Given the description of an element on the screen output the (x, y) to click on. 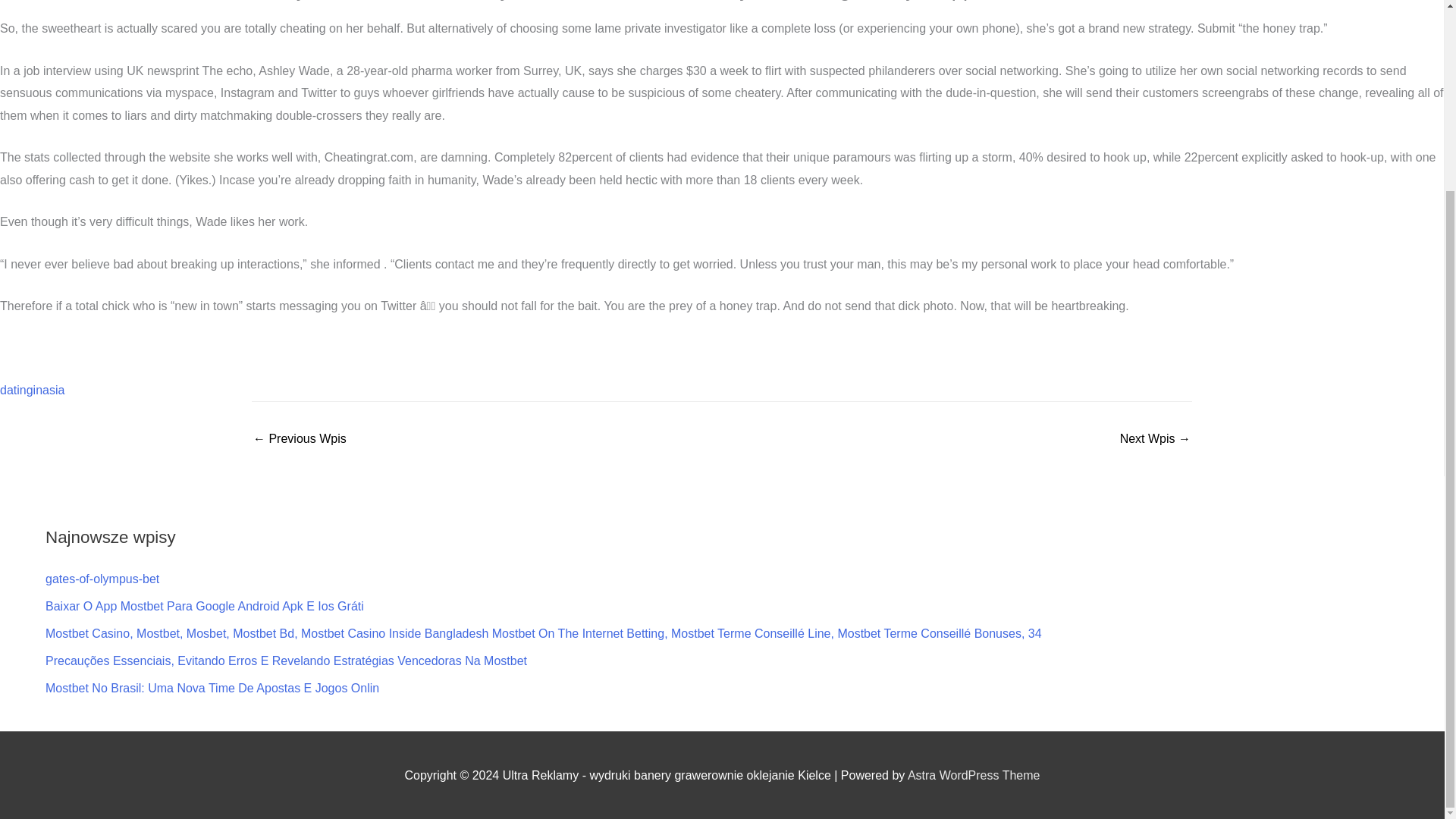
gates-of-olympus-bet (101, 578)
Astra WordPress Theme (974, 775)
datinginasia (32, 390)
Mostbet No Brasil: Uma Nova Time De Apostas E Jogos Onlin (211, 687)
